Given the description of an element on the screen output the (x, y) to click on. 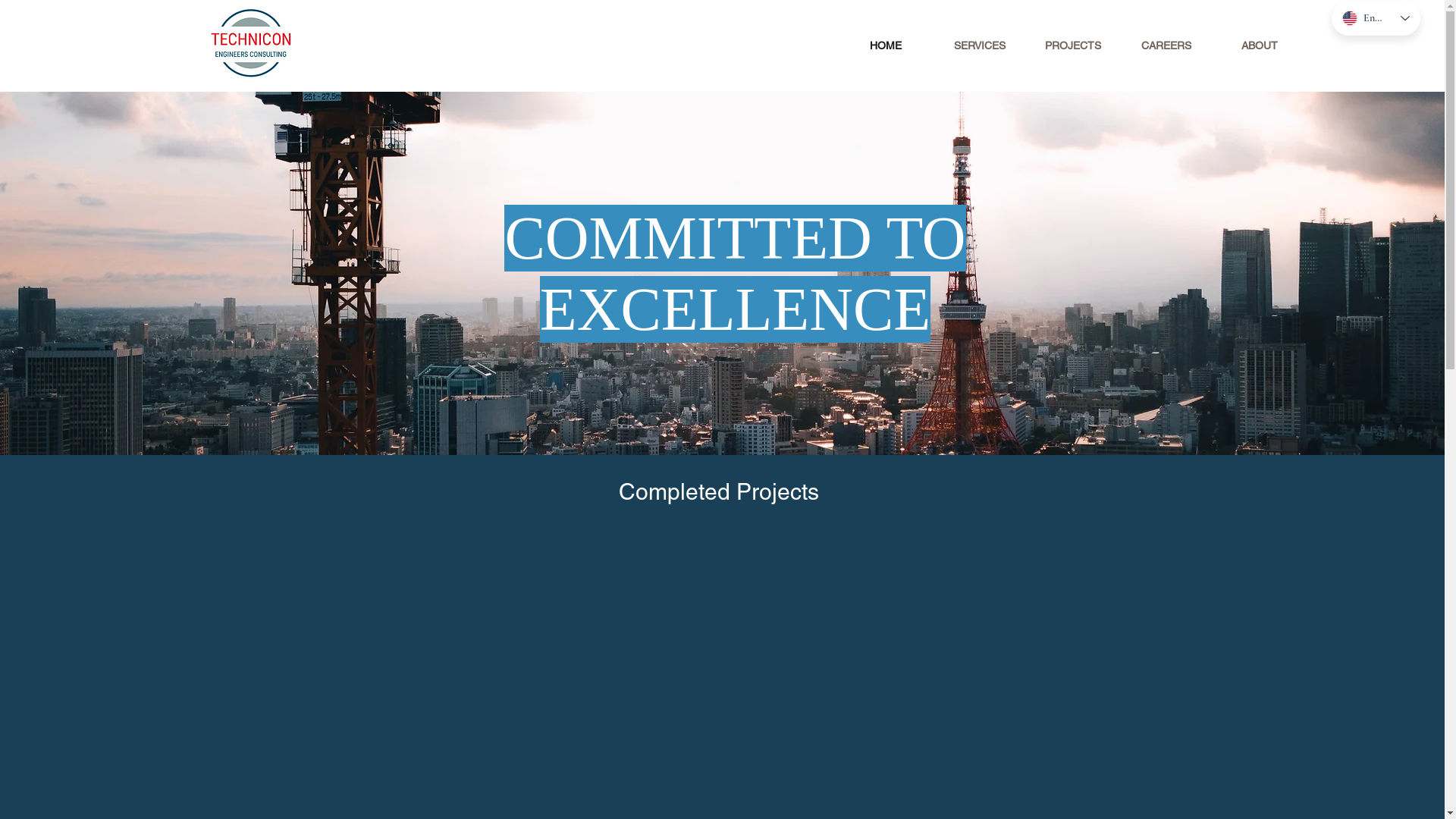
PROJECTS Element type: text (1072, 45)
ABOUT Element type: text (1258, 45)
SERVICES Element type: text (979, 45)
Visitor Analytics Element type: hover (1442, 4)
HOME Element type: text (885, 45)
CAREERS Element type: text (1165, 45)
